Given the description of an element on the screen output the (x, y) to click on. 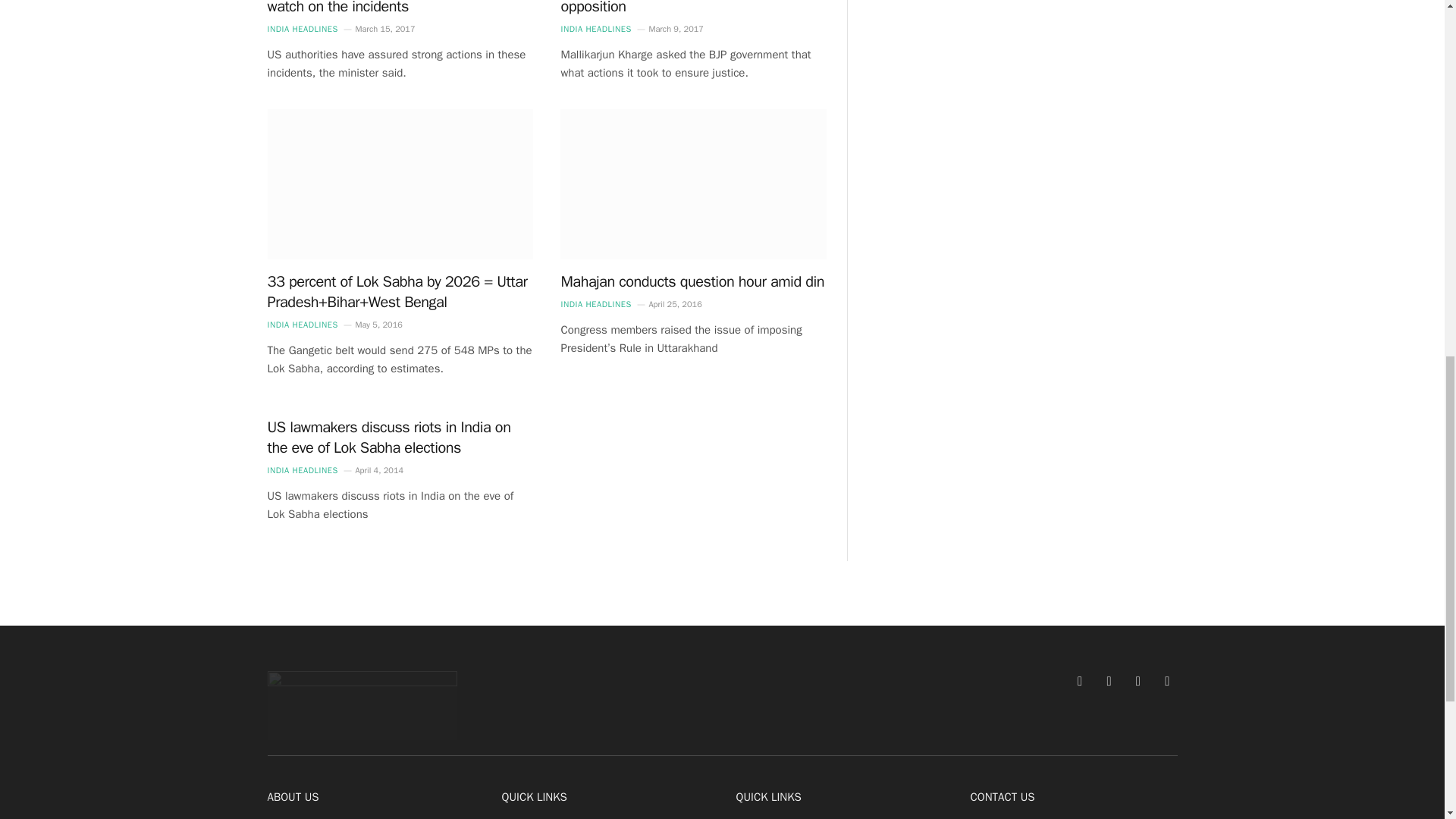
Mahajan conducts question hour amid din (693, 183)
INDIA HEADLINES (301, 324)
INDIA HEADLINES (595, 29)
Mahajan conducts question hour amid din (693, 281)
INDIA HEADLINES (301, 29)
